Given the description of an element on the screen output the (x, y) to click on. 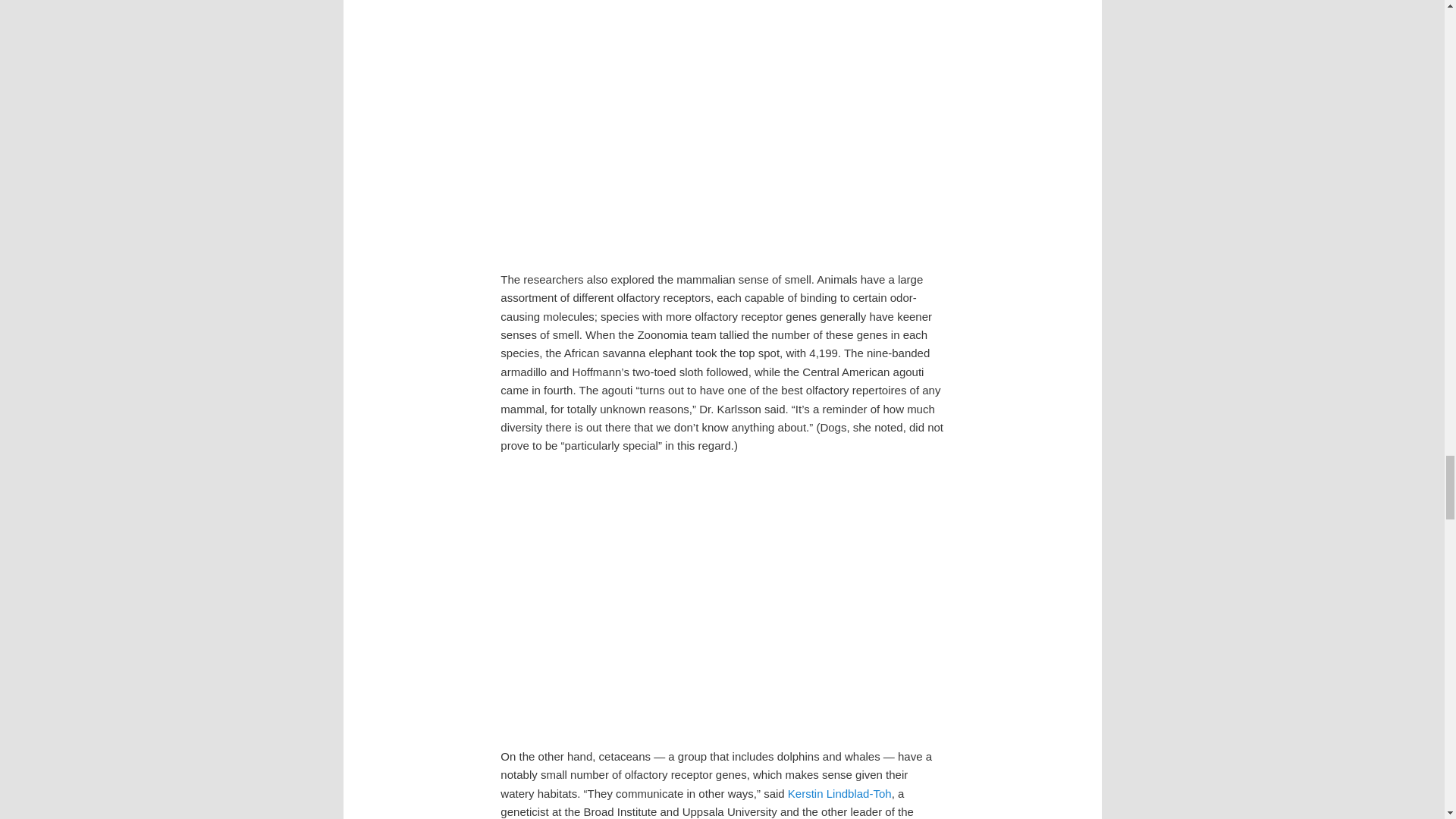
Kerstin Lindblad-Toh (839, 793)
Elinor Karlsson on the genetics of unusual traits (721, 123)
QLS Seminar - Emma Teeling - October 12 (721, 598)
